Given the description of an element on the screen output the (x, y) to click on. 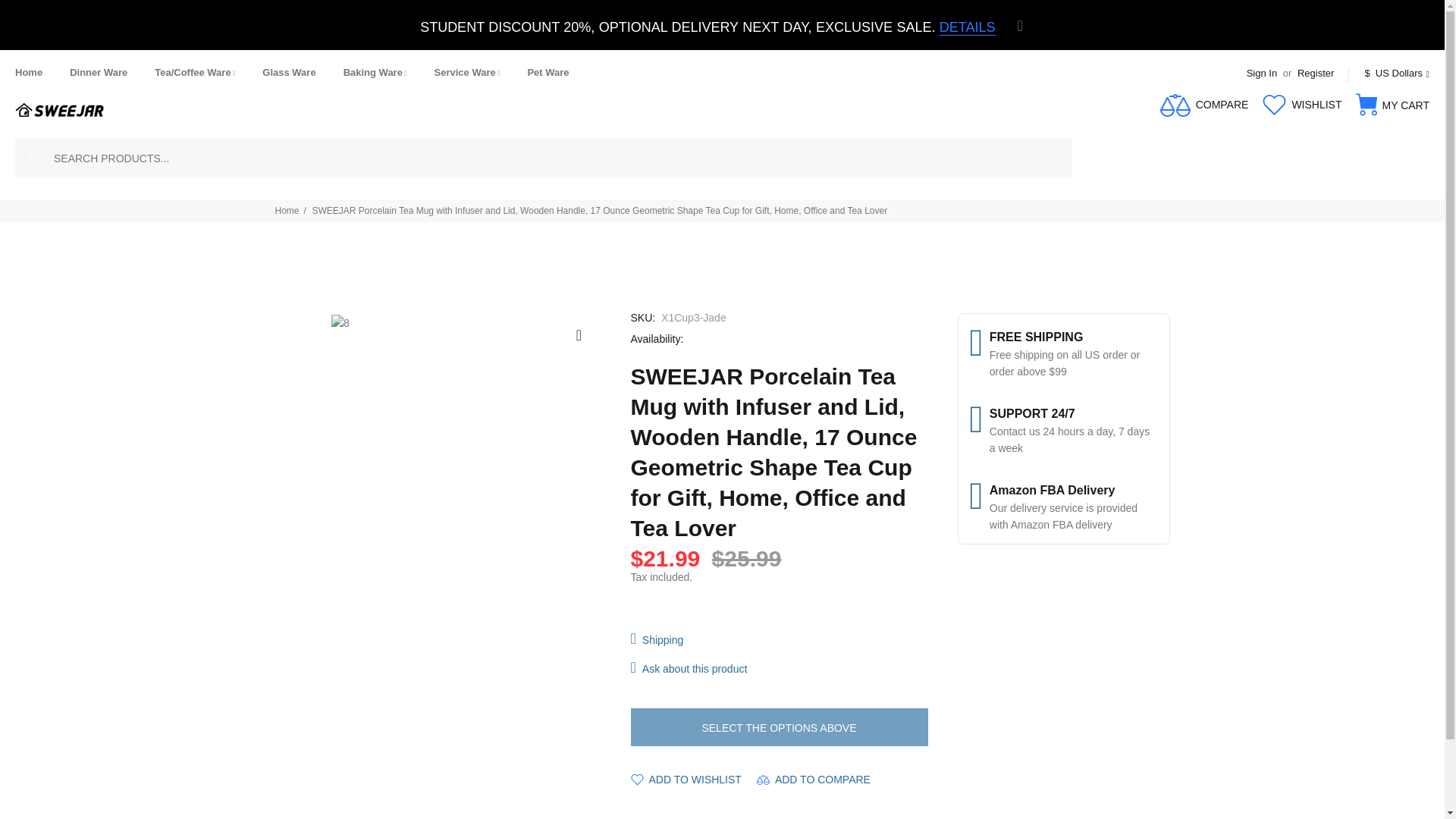
DETAILS (967, 27)
Dinner Ware (98, 72)
Home (35, 72)
